Given the description of an element on the screen output the (x, y) to click on. 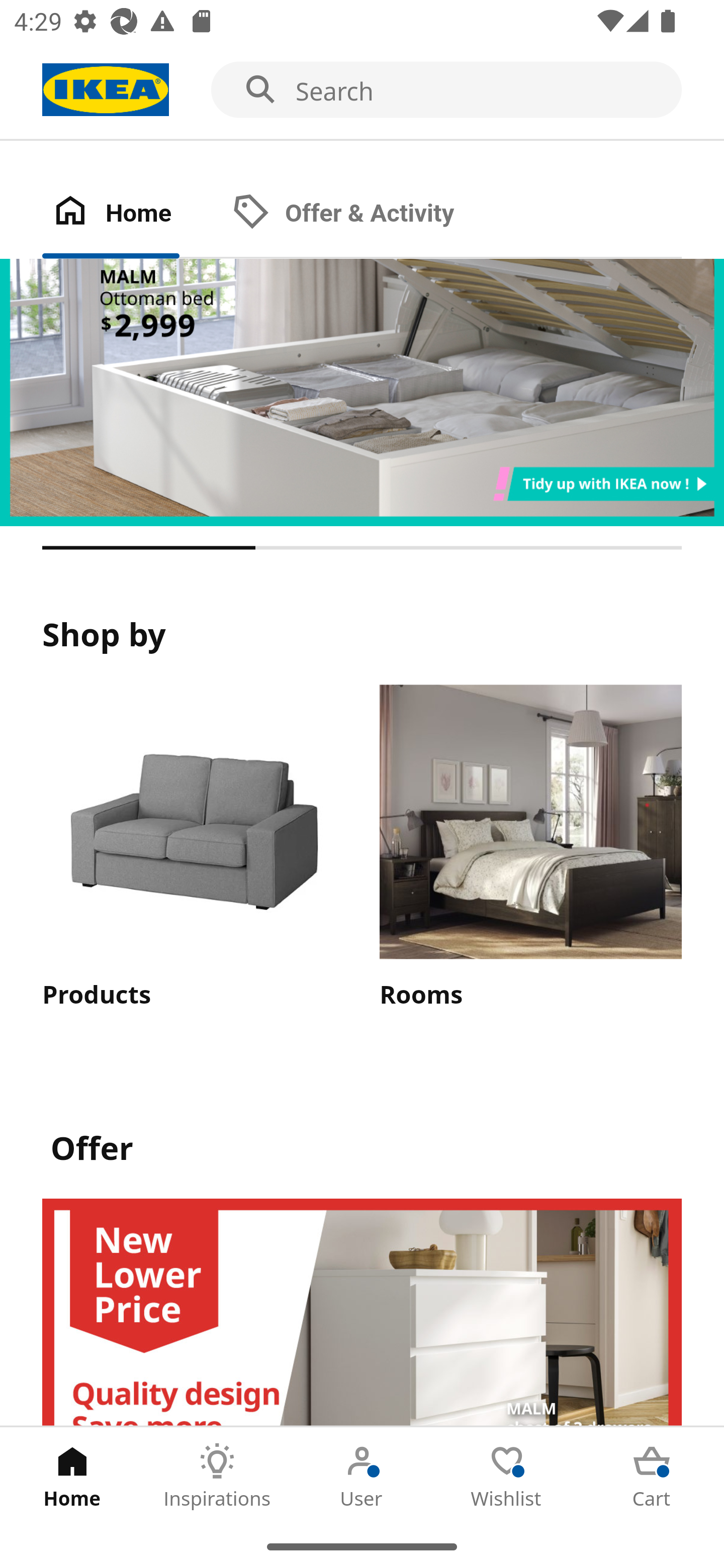
Search (361, 90)
Home
Tab 1 of 2 (131, 213)
Offer & Activity
Tab 2 of 2 (363, 213)
Products (192, 848)
Rooms (530, 848)
Home
Tab 1 of 5 (72, 1476)
Inspirations
Tab 2 of 5 (216, 1476)
User
Tab 3 of 5 (361, 1476)
Wishlist
Tab 4 of 5 (506, 1476)
Cart
Tab 5 of 5 (651, 1476)
